Given the description of an element on the screen output the (x, y) to click on. 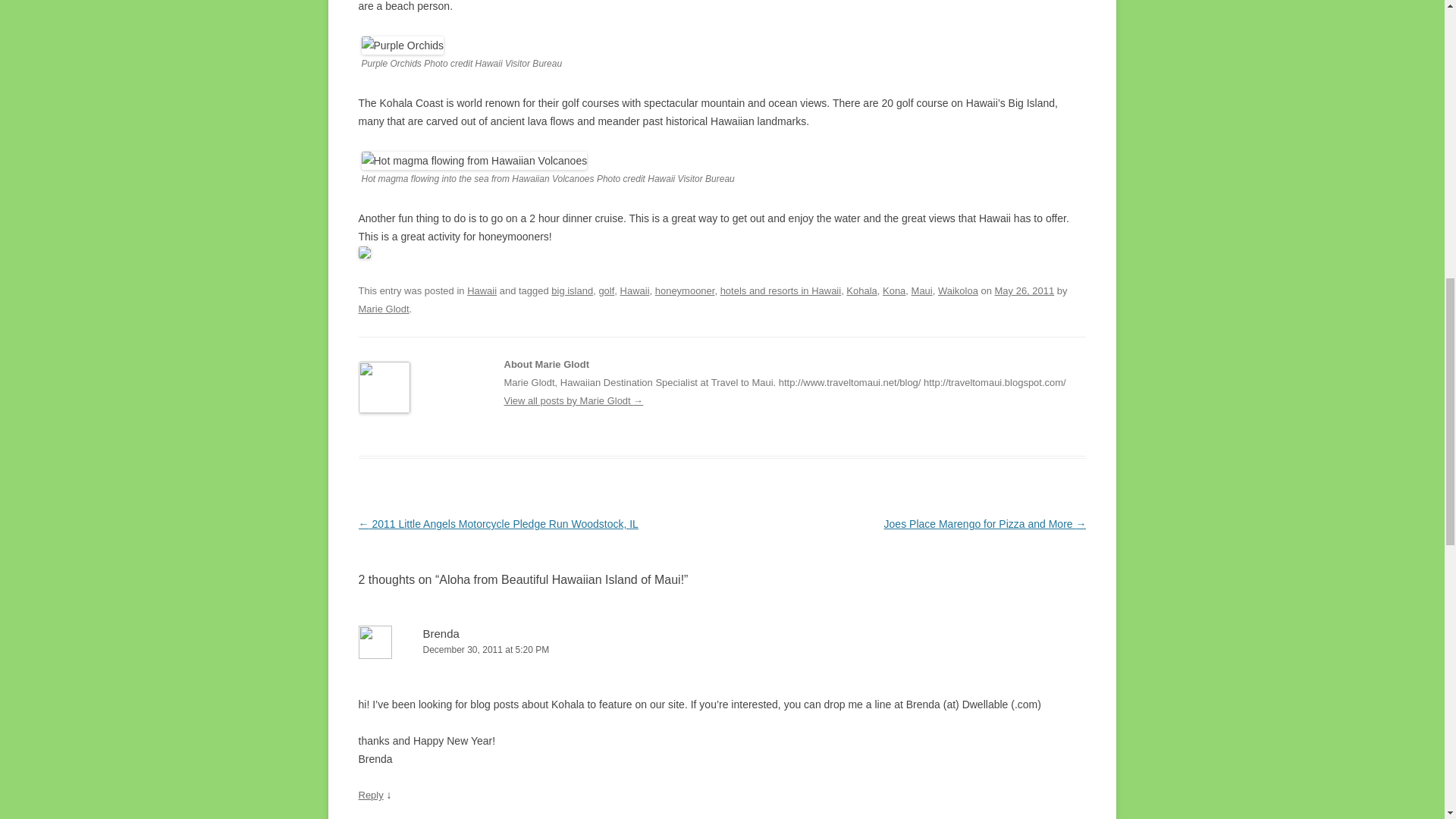
golf (606, 290)
Hawaii (634, 290)
Hot magma flowing from Hawaiian Volcanoes (473, 160)
Purple Orchids (402, 45)
Reply (370, 794)
hotels and resorts in Hawaii (780, 290)
2:48 PM (1024, 290)
big island (571, 290)
May 26, 2011 (1024, 290)
Waikoloa (957, 290)
Hawaii (481, 290)
Kohala (860, 290)
Kona (893, 290)
View all posts by Marie Glodt (383, 308)
December 30, 2011 at 5:20 PM (722, 650)
